Given the description of an element on the screen output the (x, y) to click on. 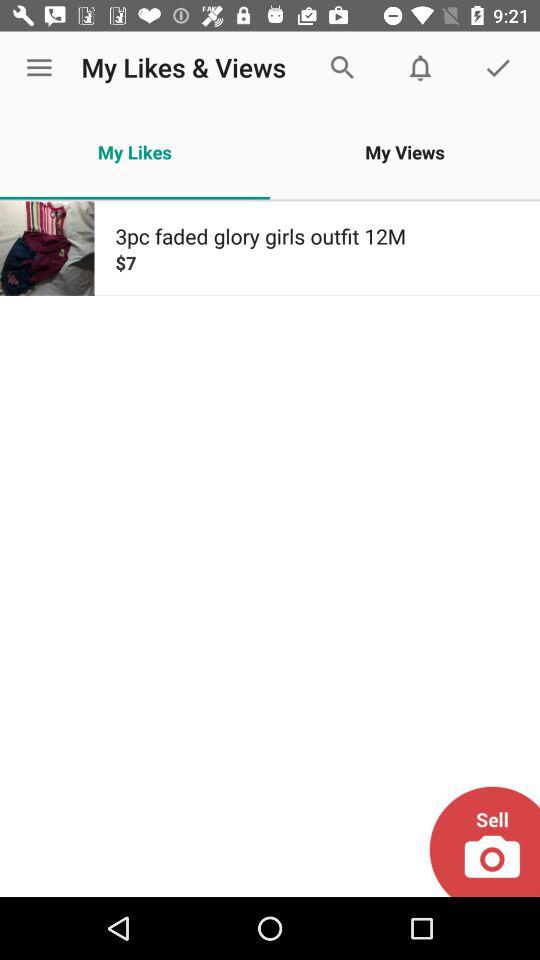
click the icon next to my likes & views app (39, 67)
